Given the description of an element on the screen output the (x, y) to click on. 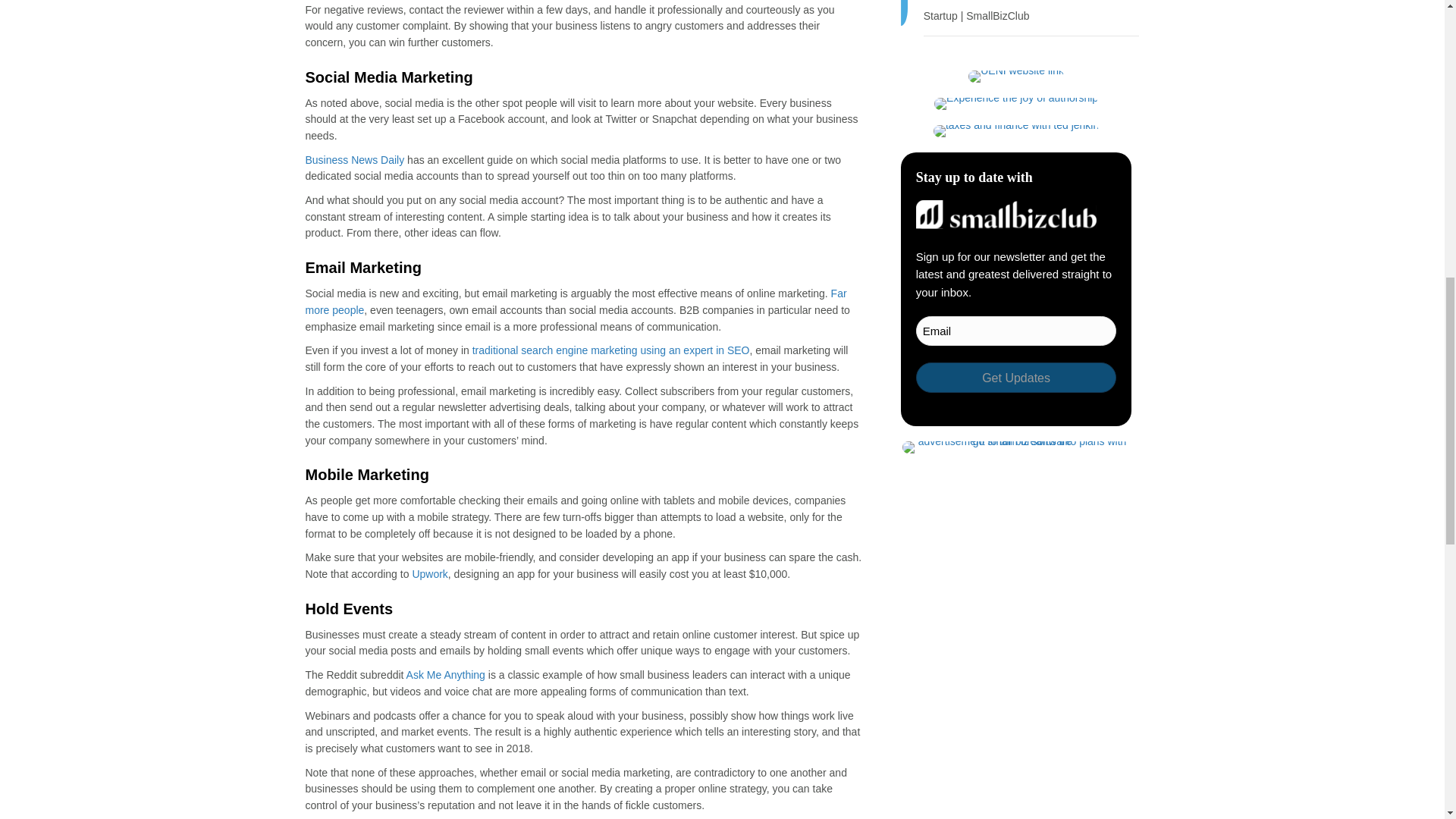
Get Updates (1015, 377)
Upwork (429, 573)
sbc-sidebar-img-ueni (1016, 76)
IG Post 2 (1015, 103)
sbc-sept-banner-ted-janken-square (1016, 131)
Ask Me Anything (445, 674)
Business News Daily (354, 159)
traditional search engine marketing using an expert in SEO (610, 349)
Far more people (574, 301)
